Given the description of an element on the screen output the (x, y) to click on. 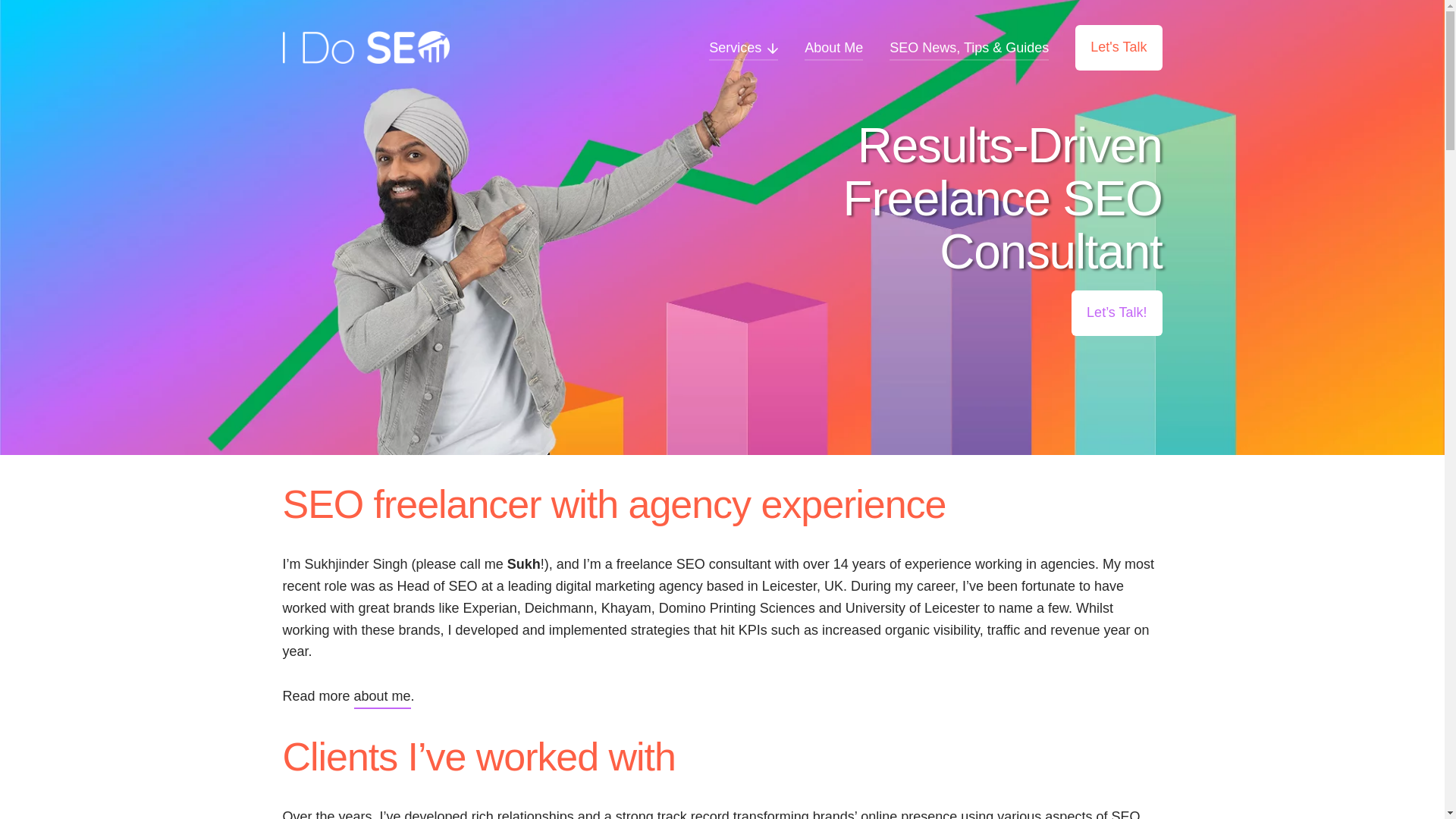
About Me (834, 47)
Let's Talk (1118, 47)
Services (743, 47)
about me (381, 696)
